Given the description of an element on the screen output the (x, y) to click on. 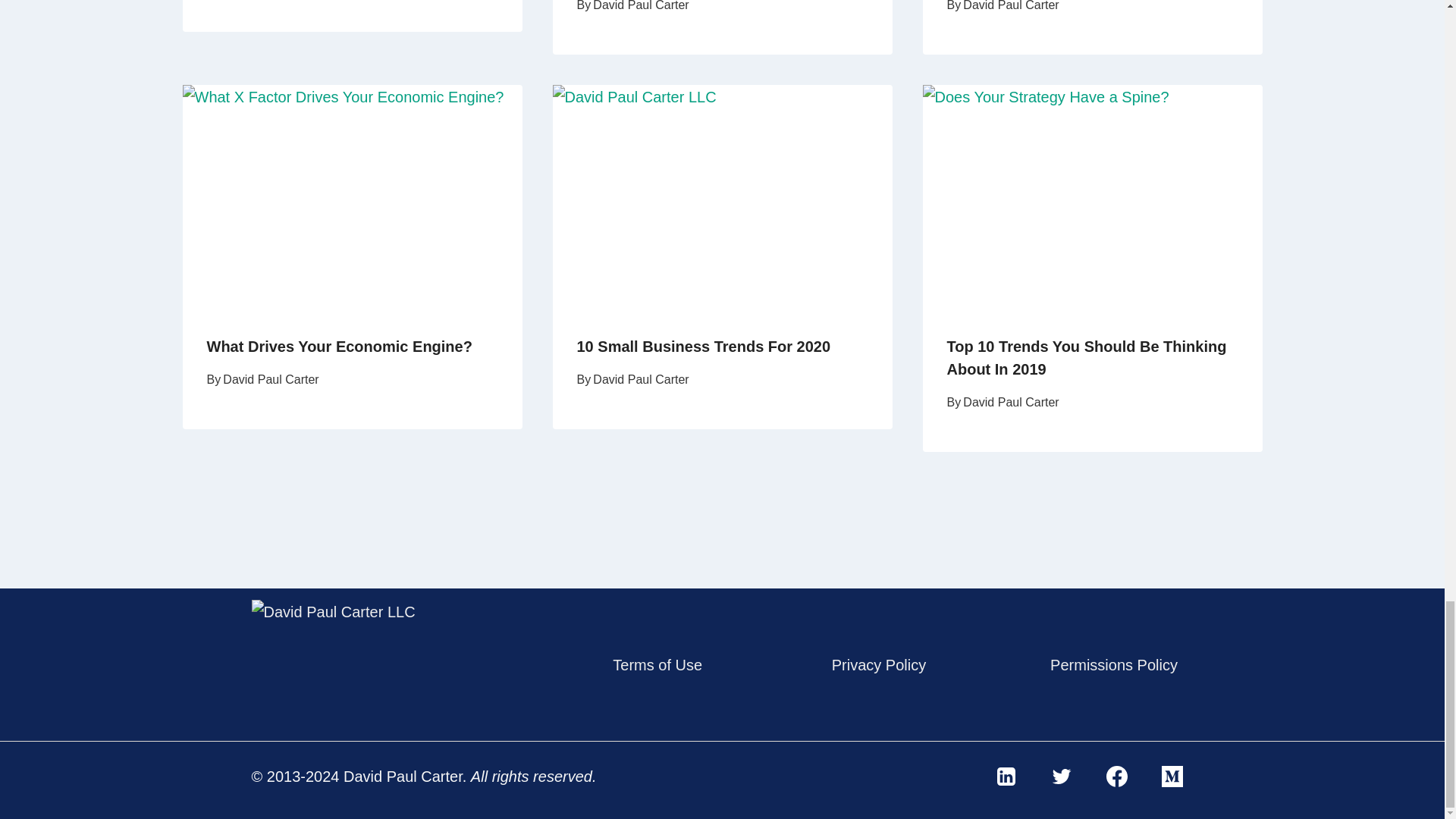
Top 10 Trends You Should Be Thinking About In 2019 (1085, 357)
10 Small Business Trends For 2020 (702, 346)
What Drives Your Economic Engine? (338, 346)
